Given the description of an element on the screen output the (x, y) to click on. 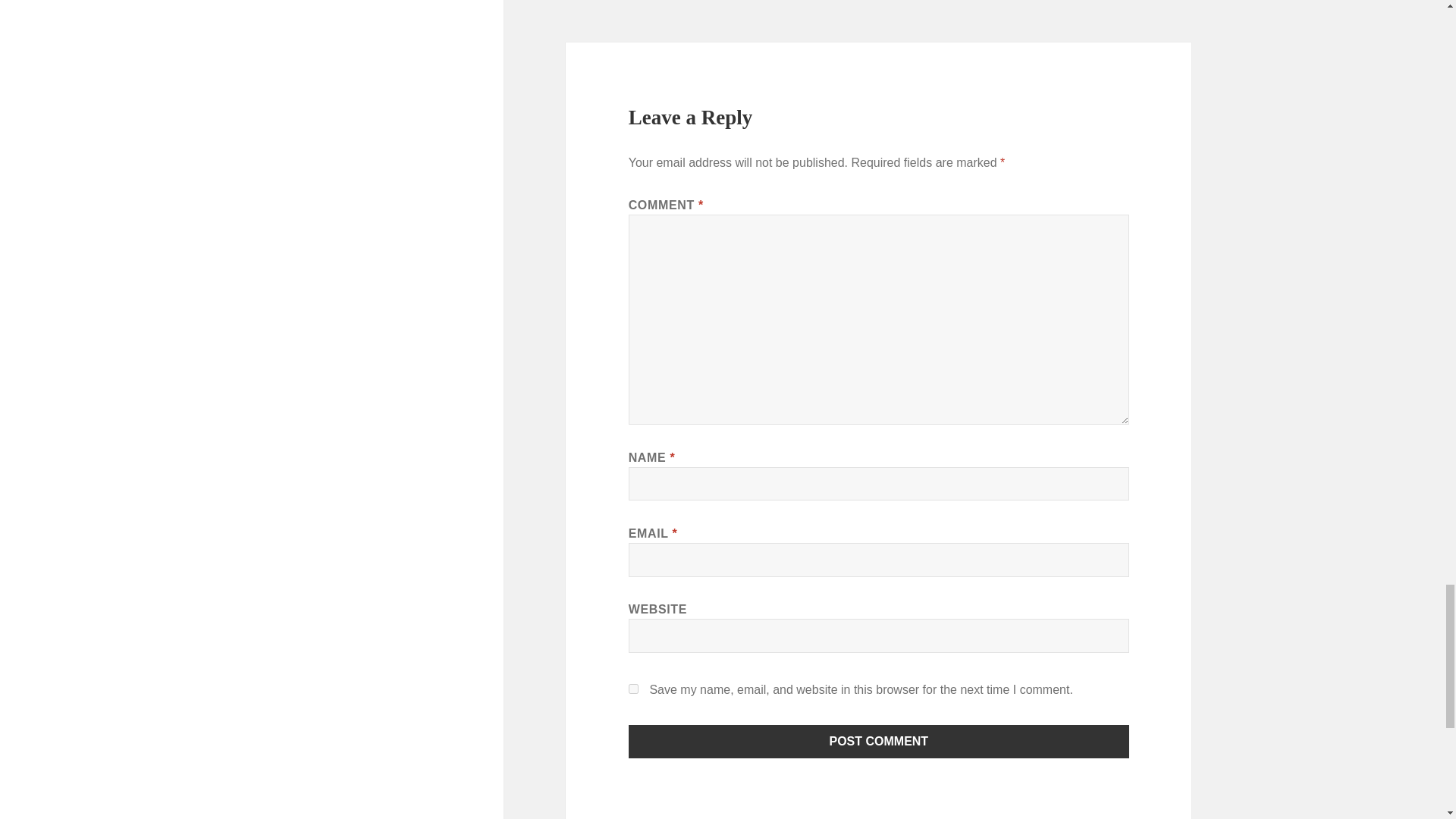
Post Comment (878, 741)
yes (633, 688)
Post Comment (878, 741)
